Given the description of an element on the screen output the (x, y) to click on. 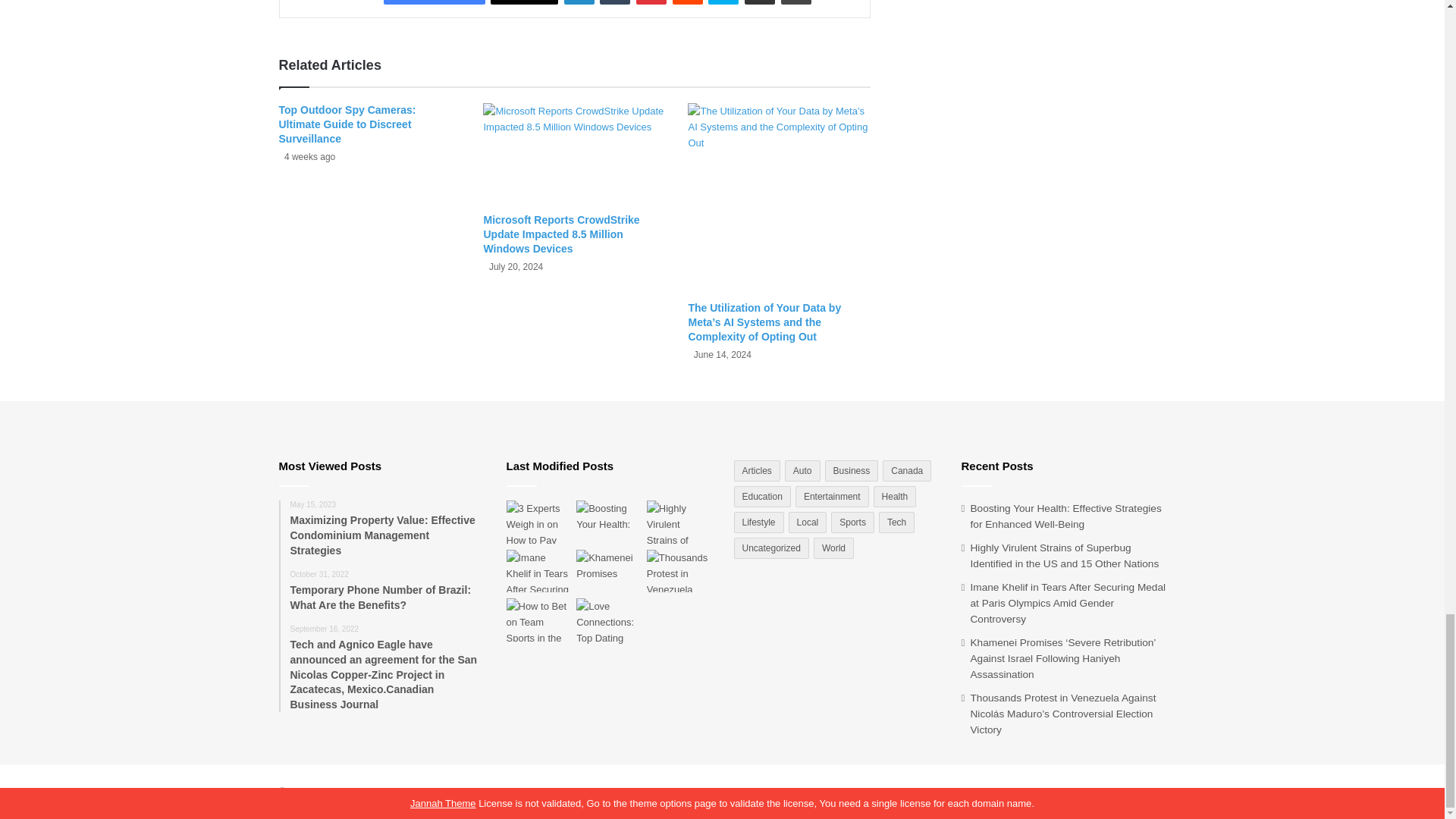
Reddit (687, 2)
X (523, 2)
Skype (722, 2)
Facebook (434, 2)
X (523, 2)
LinkedIn (579, 2)
Skype (722, 2)
Pinterest (651, 2)
Facebook (434, 2)
Reddit (687, 2)
